Given the description of an element on the screen output the (x, y) to click on. 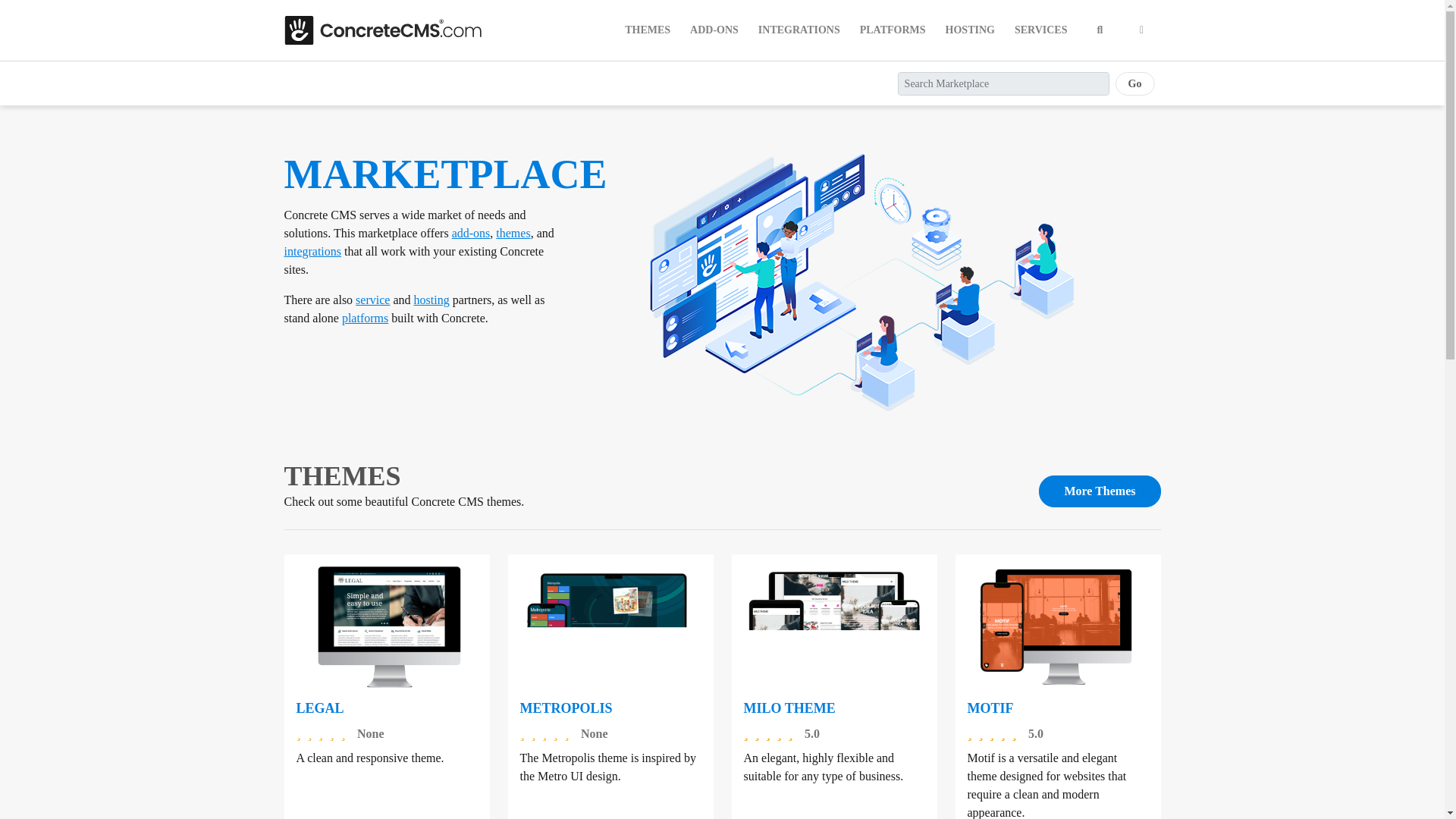
platforms (365, 318)
themes (512, 232)
THEMES (647, 30)
LEGAL (319, 708)
add-ons (470, 232)
PLATFORMS (892, 30)
Go (1134, 83)
METROPOLIS (565, 708)
More Themes (1099, 490)
service (372, 299)
